Given the description of an element on the screen output the (x, y) to click on. 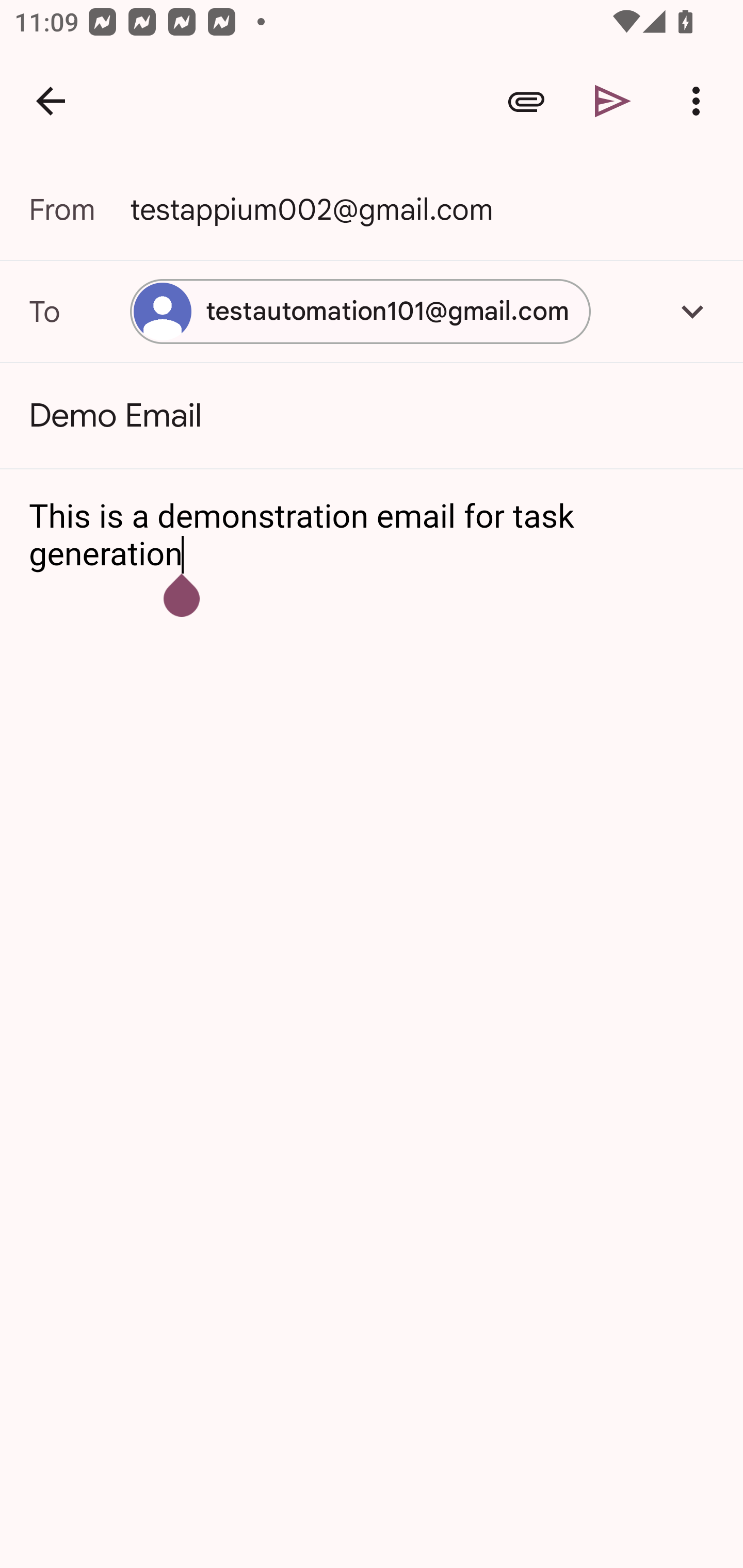
Navigate up (50, 101)
Attach file (525, 101)
Send (612, 101)
More options (699, 101)
From (79, 209)
Add Cc/Bcc (692, 311)
Demo Email (371, 415)
This is a demonstration email for task generation (372, 535)
